Given the description of an element on the screen output the (x, y) to click on. 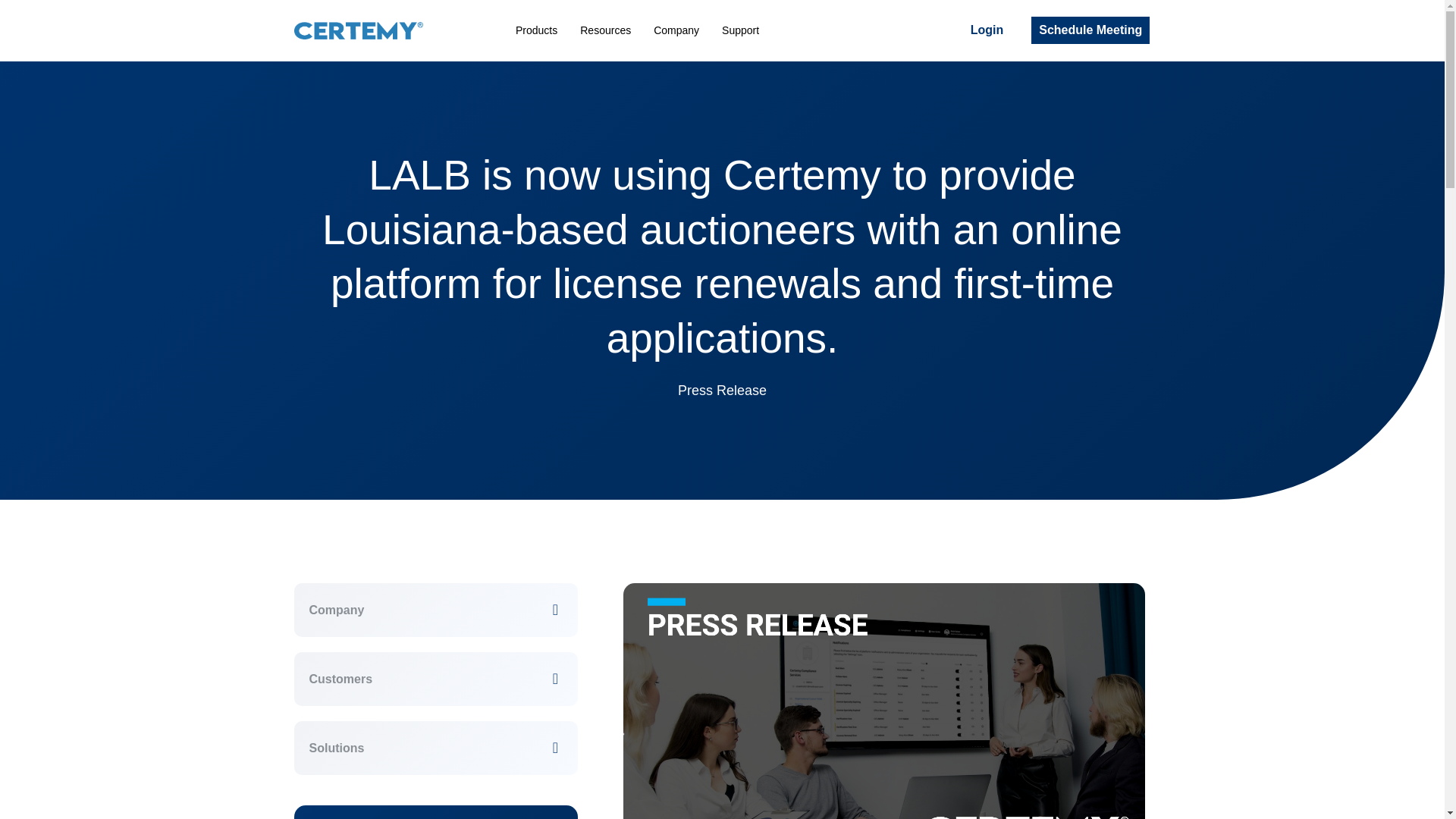
Support (740, 30)
Products (536, 30)
Company (336, 609)
Solutions (336, 747)
Customers (340, 679)
Schedule Meeting (1090, 30)
Resources (605, 30)
Login (986, 30)
Company (676, 30)
